Given the description of an element on the screen output the (x, y) to click on. 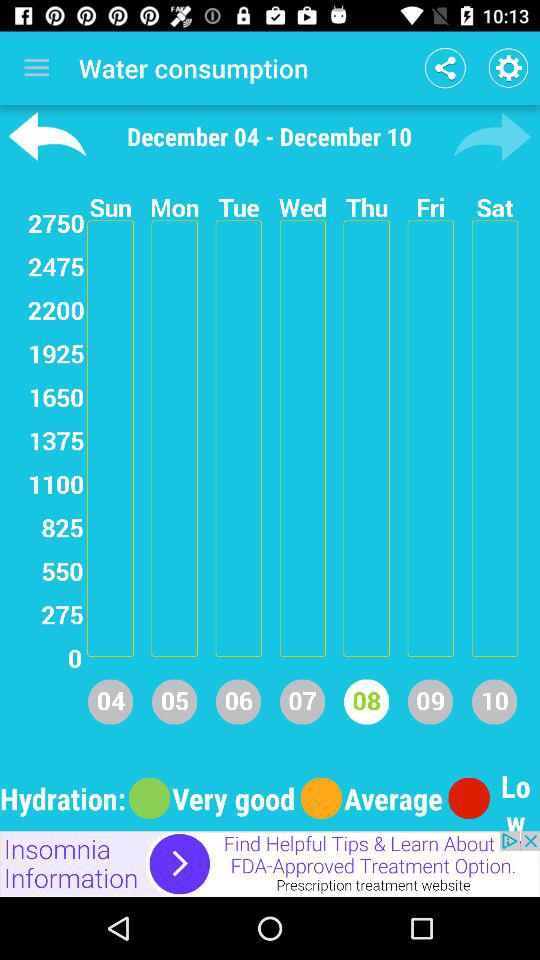
calendario (492, 136)
